Given the description of an element on the screen output the (x, y) to click on. 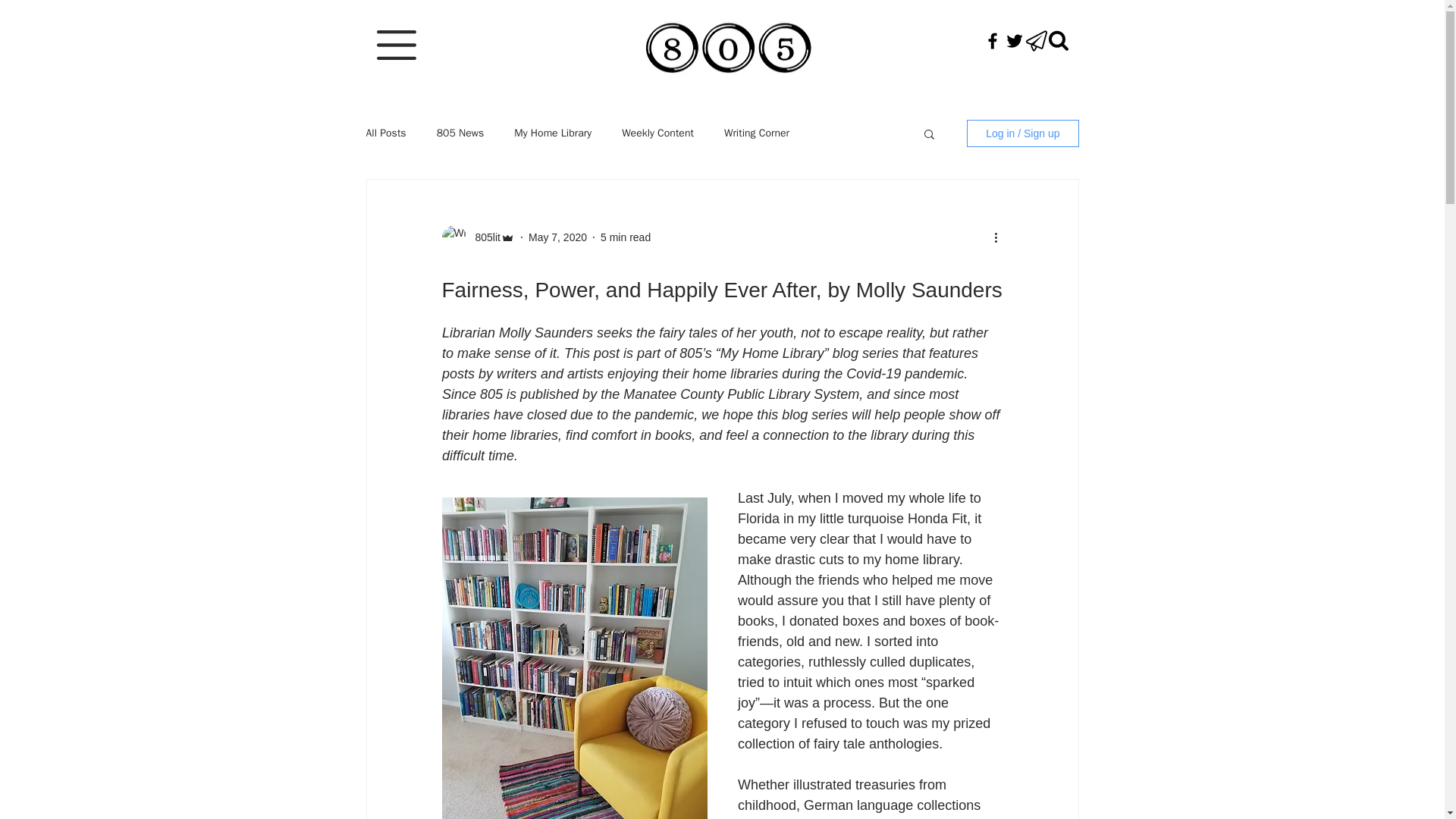
My Home Library (552, 133)
5 min read (624, 236)
805 News (460, 133)
Writing Corner (756, 133)
May 7, 2020 (557, 236)
805lit (482, 236)
All Posts (385, 133)
Weekly Content (657, 133)
